Given the description of an element on the screen output the (x, y) to click on. 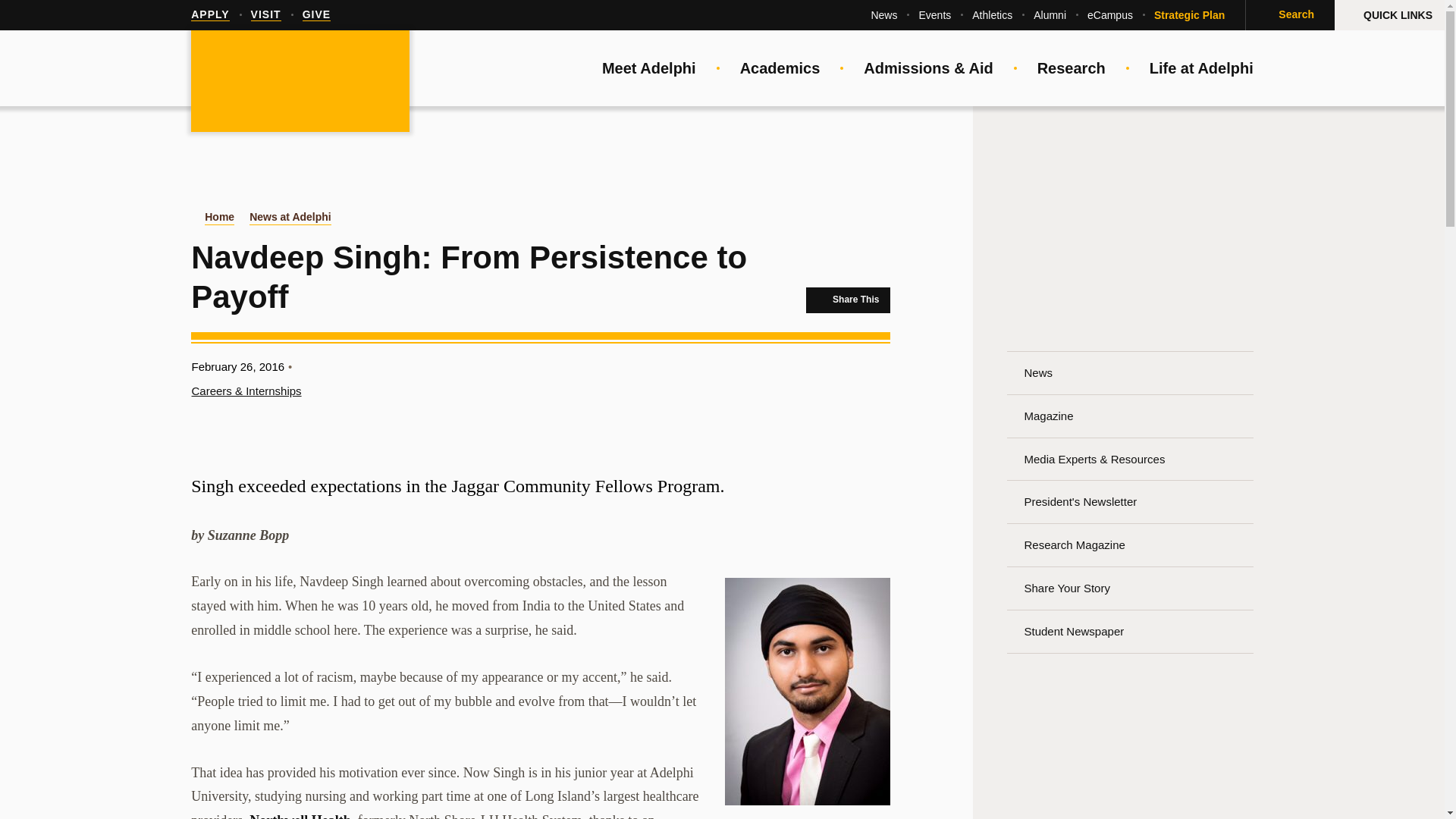
Academics (780, 68)
Athletics (991, 15)
Strategic Plan (1189, 15)
GIVE (316, 15)
Events (934, 15)
APPLY (209, 15)
Alumni (1049, 15)
Search (1289, 15)
Meet Adelphi (648, 68)
Adelphi University (299, 82)
